Given the description of an element on the screen output the (x, y) to click on. 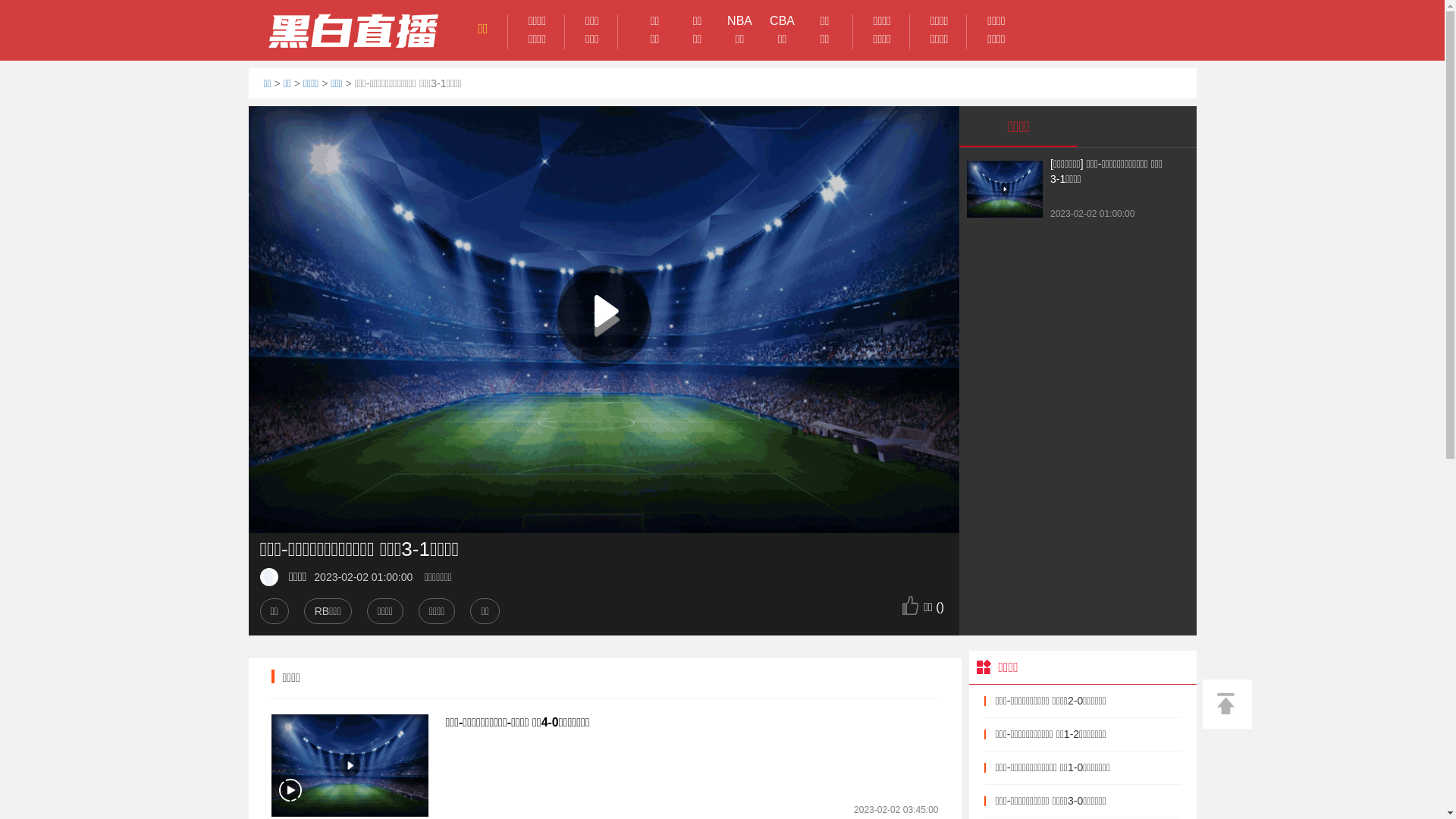
CBA Element type: text (782, 21)
NBA Element type: text (739, 21)
